Given the description of an element on the screen output the (x, y) to click on. 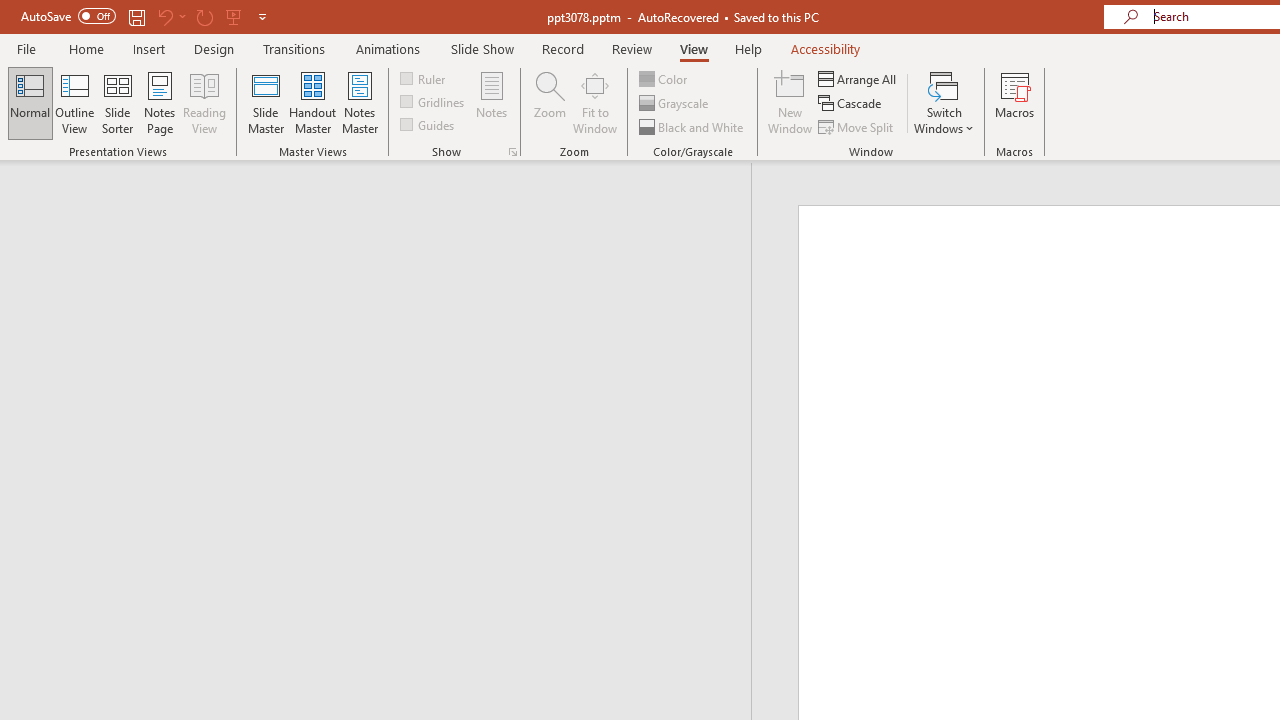
Move Split (857, 126)
Cascade (851, 103)
New Window (790, 102)
Macros (1014, 102)
Notes Page (159, 102)
Outline View (74, 102)
Slide Master (265, 102)
Color (664, 78)
